Given the description of an element on the screen output the (x, y) to click on. 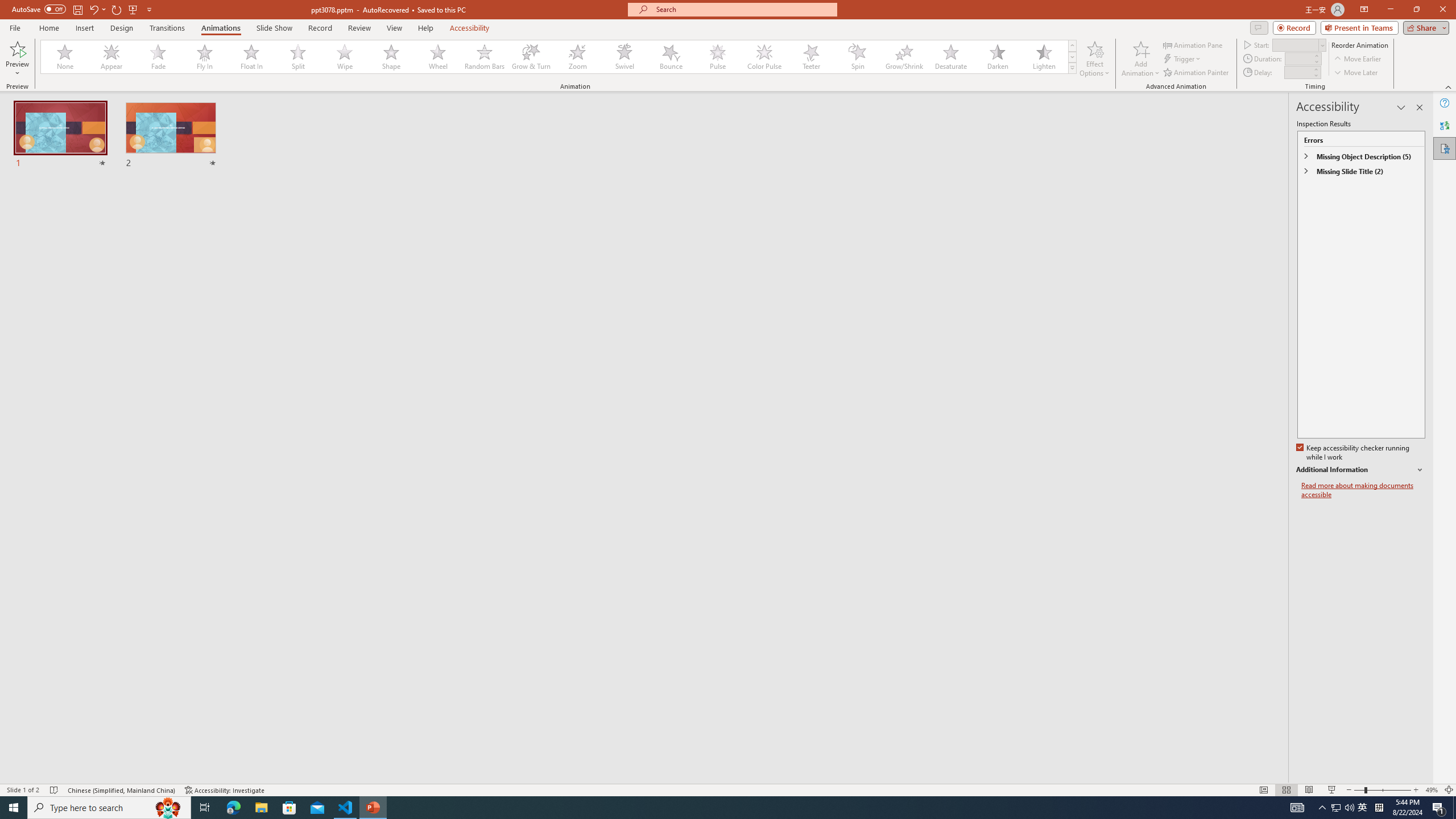
Pulse (717, 56)
Animations (220, 28)
Slide (170, 135)
Insert (83, 28)
Record (1294, 27)
View (395, 28)
Preview (17, 48)
Row Down (1071, 56)
Row up (1071, 45)
Animation Pane (1193, 44)
Microsoft search (742, 9)
Wheel (437, 56)
Effect Options (1094, 58)
Close (1442, 9)
More Options (17, 68)
